Given the description of an element on the screen output the (x, y) to click on. 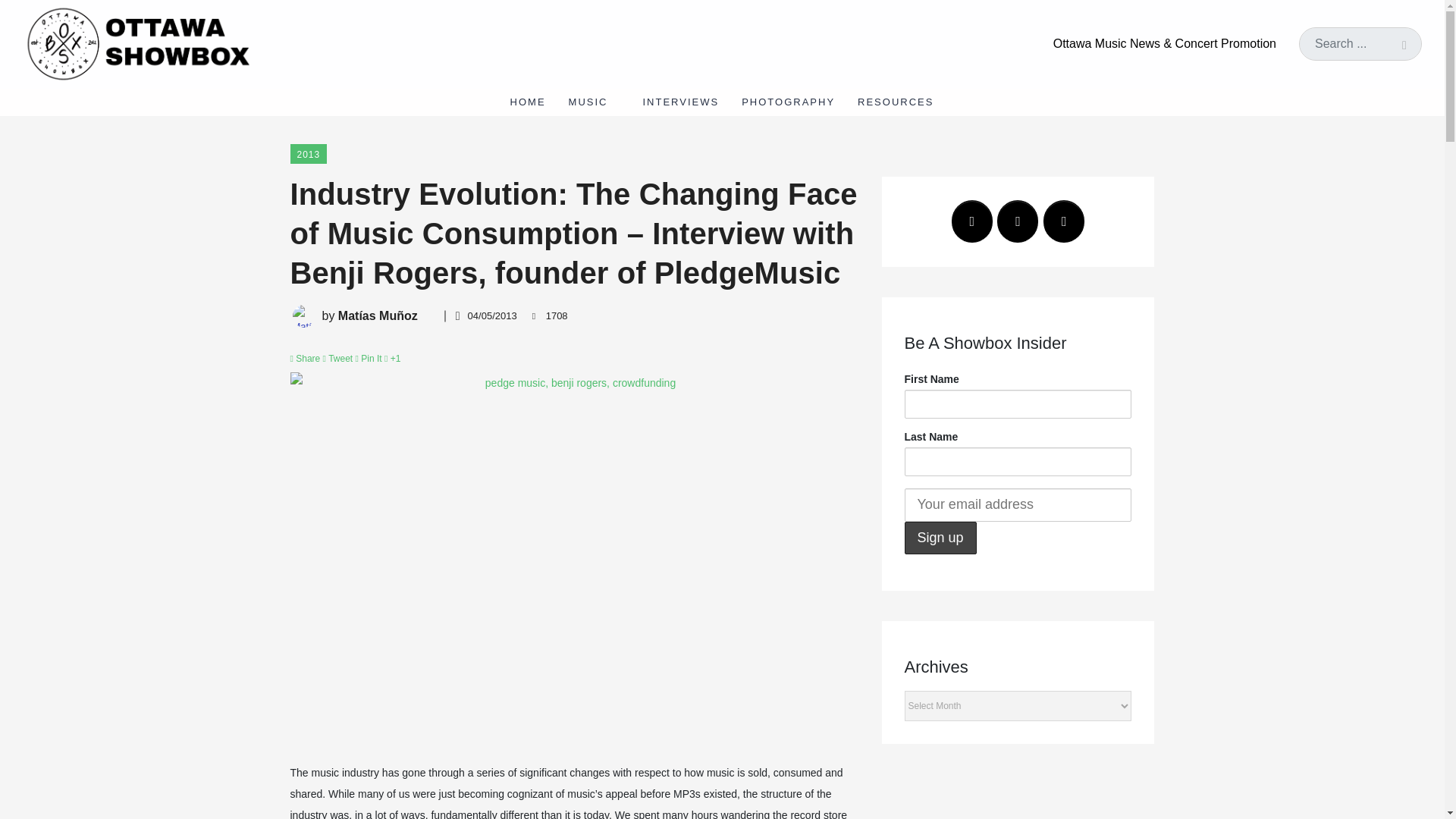
Ottawa Showbox on Instagram (1063, 220)
Ottawa Showbox on Twitter (1017, 220)
Sign up (939, 538)
HOME (528, 102)
PHOTOGRAPHY (787, 102)
2013 (307, 153)
Ottawa Showbox on Facebook (972, 220)
MUSIC (594, 102)
INTERVIEWS (680, 102)
ottawa showbox (136, 42)
RESOURCES (900, 102)
